Given the description of an element on the screen output the (x, y) to click on. 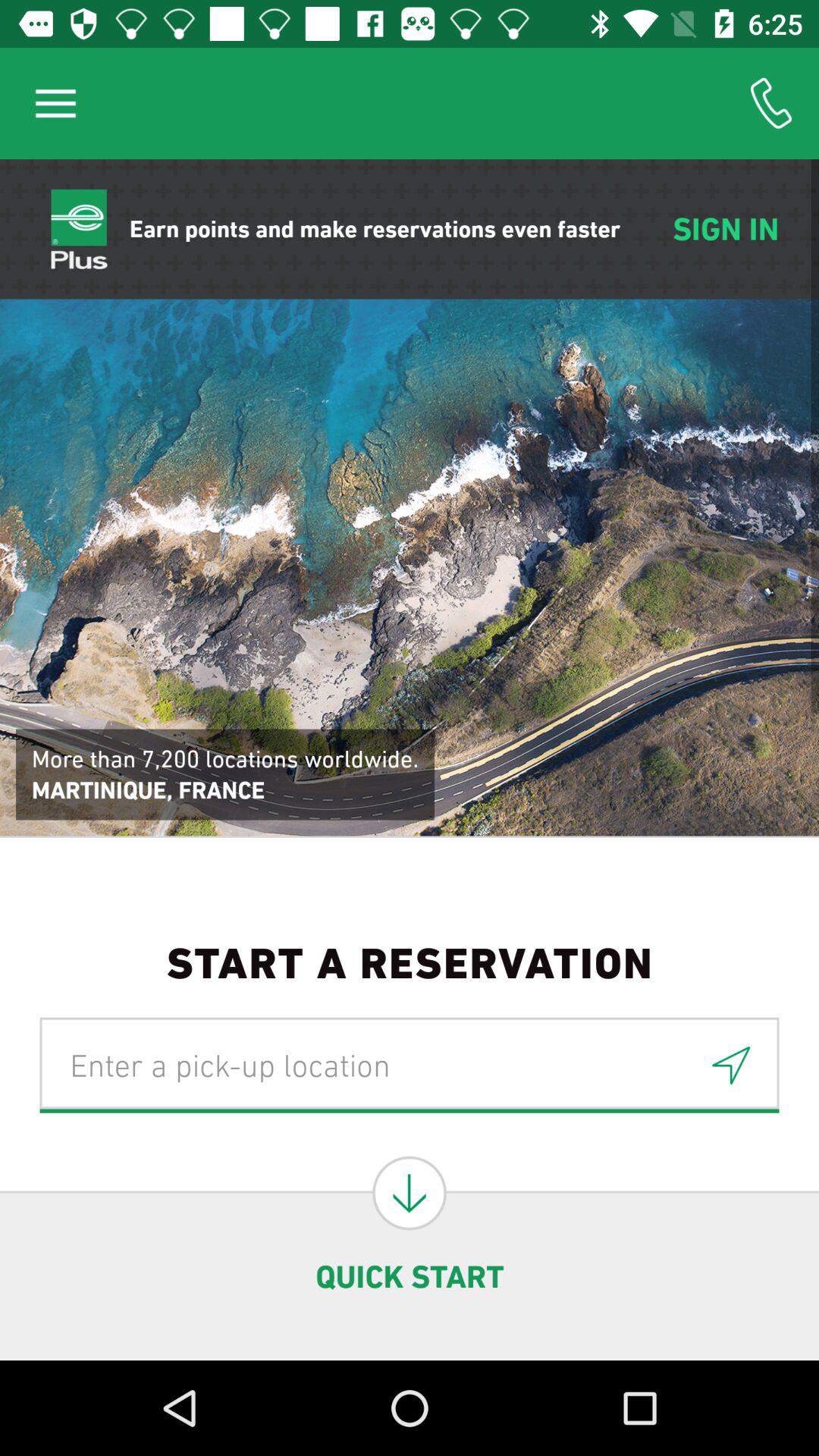
scroll to quick start icon (409, 1276)
